Given the description of an element on the screen output the (x, y) to click on. 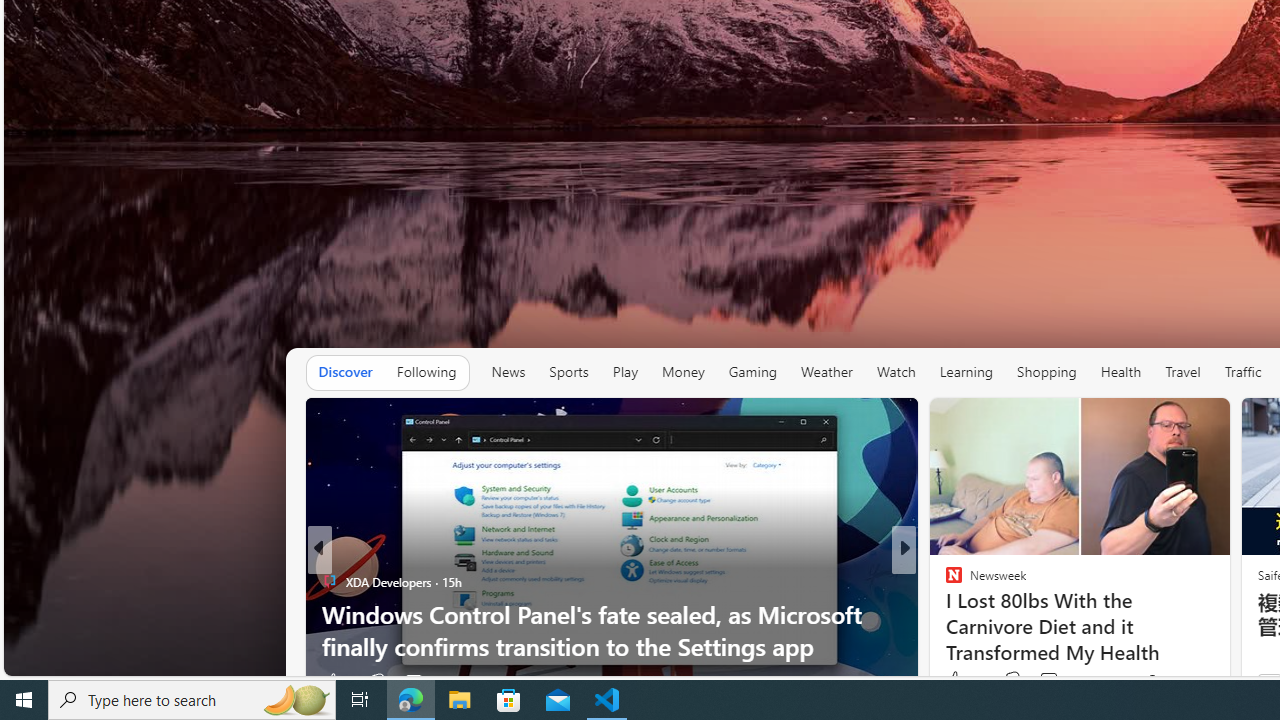
INSIDER (944, 581)
69 Like (956, 681)
245 Like (959, 681)
383 Like (964, 680)
194 Like (959, 681)
View comments 11 Comment (1051, 681)
View comments 18 Comment (1036, 681)
21 Like (956, 681)
